Given the description of an element on the screen output the (x, y) to click on. 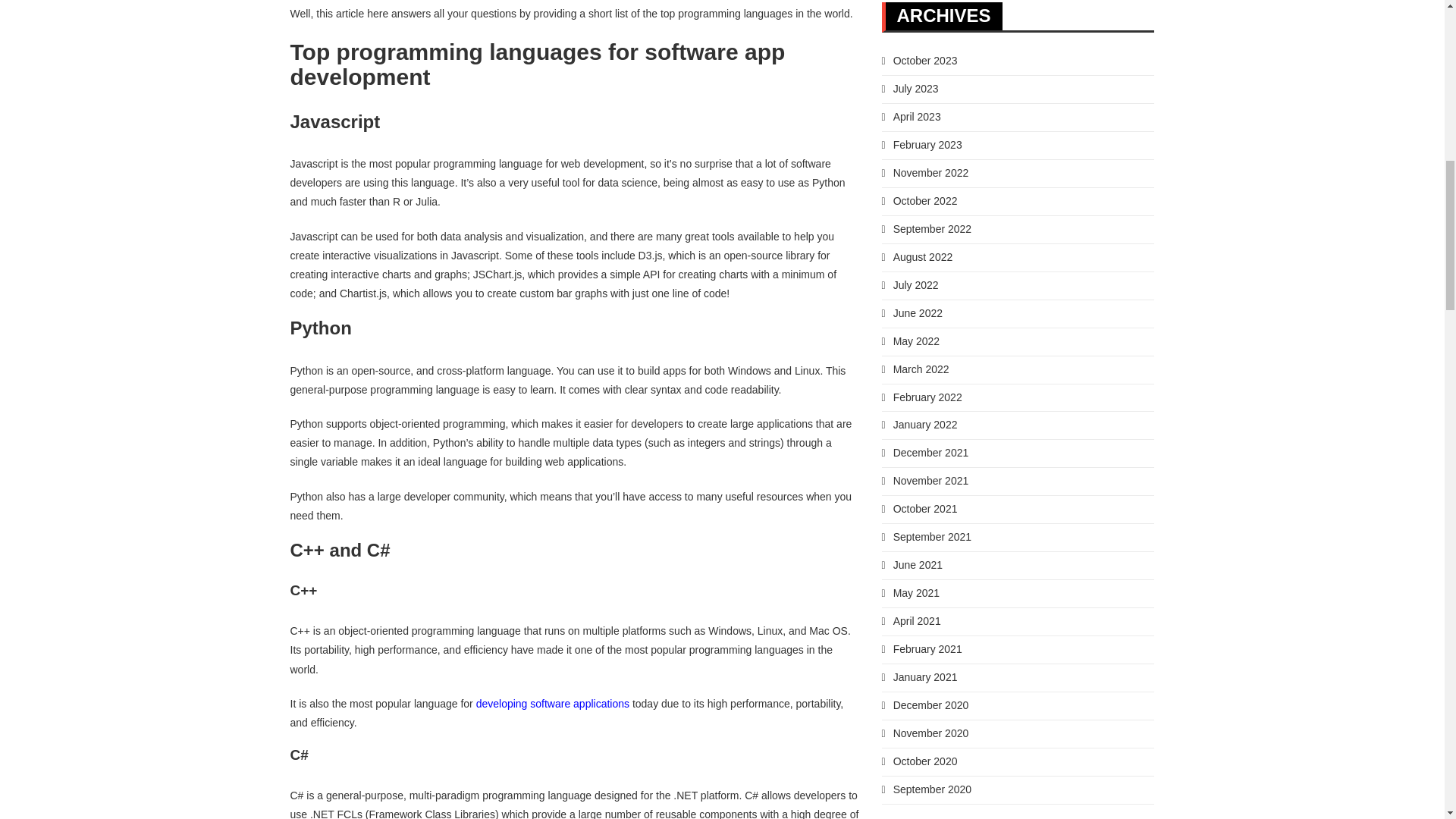
developing software applications (552, 703)
